Given the description of an element on the screen output the (x, y) to click on. 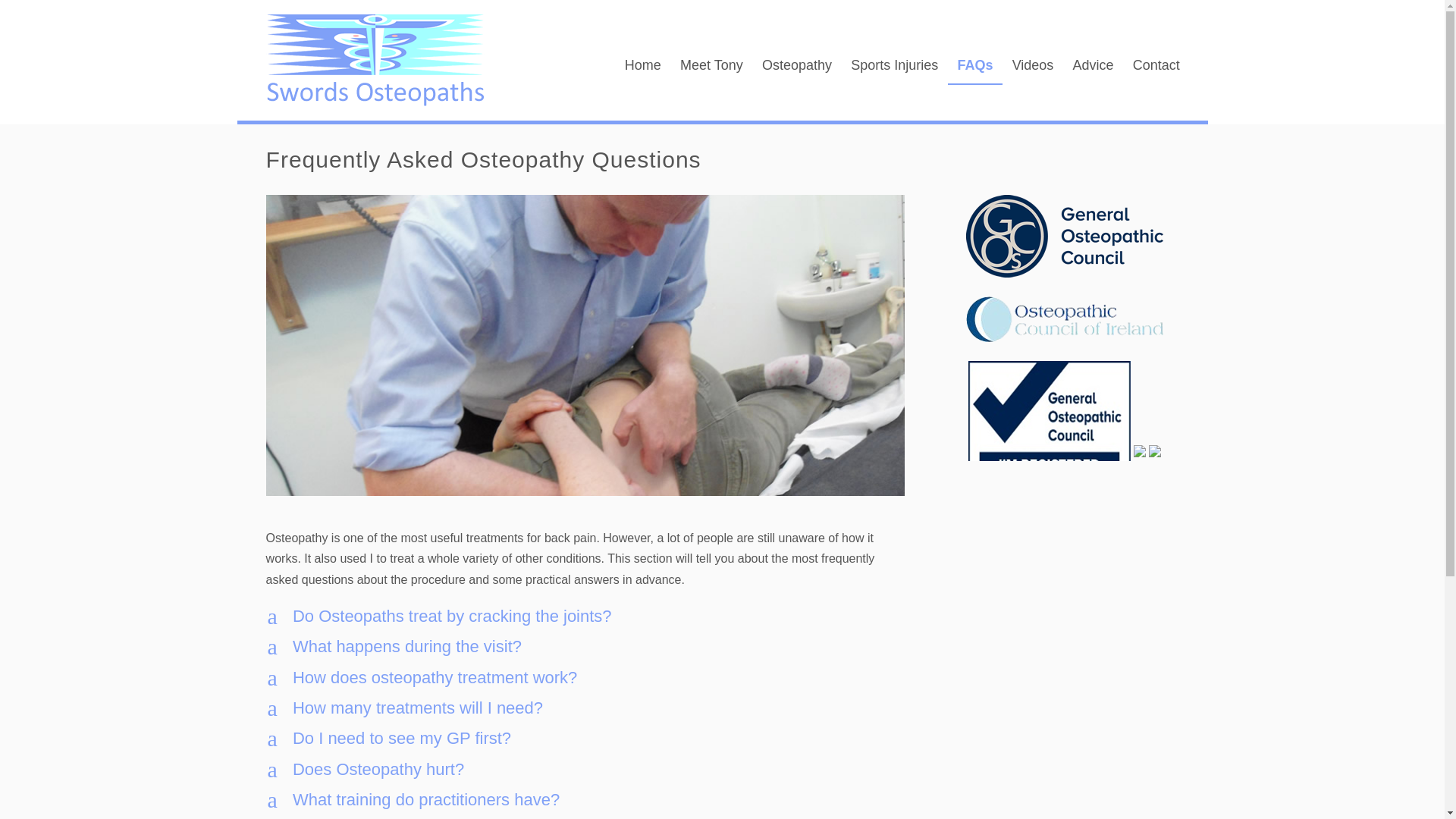
Sports Injuries (894, 66)
Home (641, 66)
Advice (585, 678)
Meet Tony (1092, 66)
Osteopathy (710, 66)
Contact (796, 66)
FAQs (585, 738)
Swords Osteopathy (585, 616)
